Given the description of an element on the screen output the (x, y) to click on. 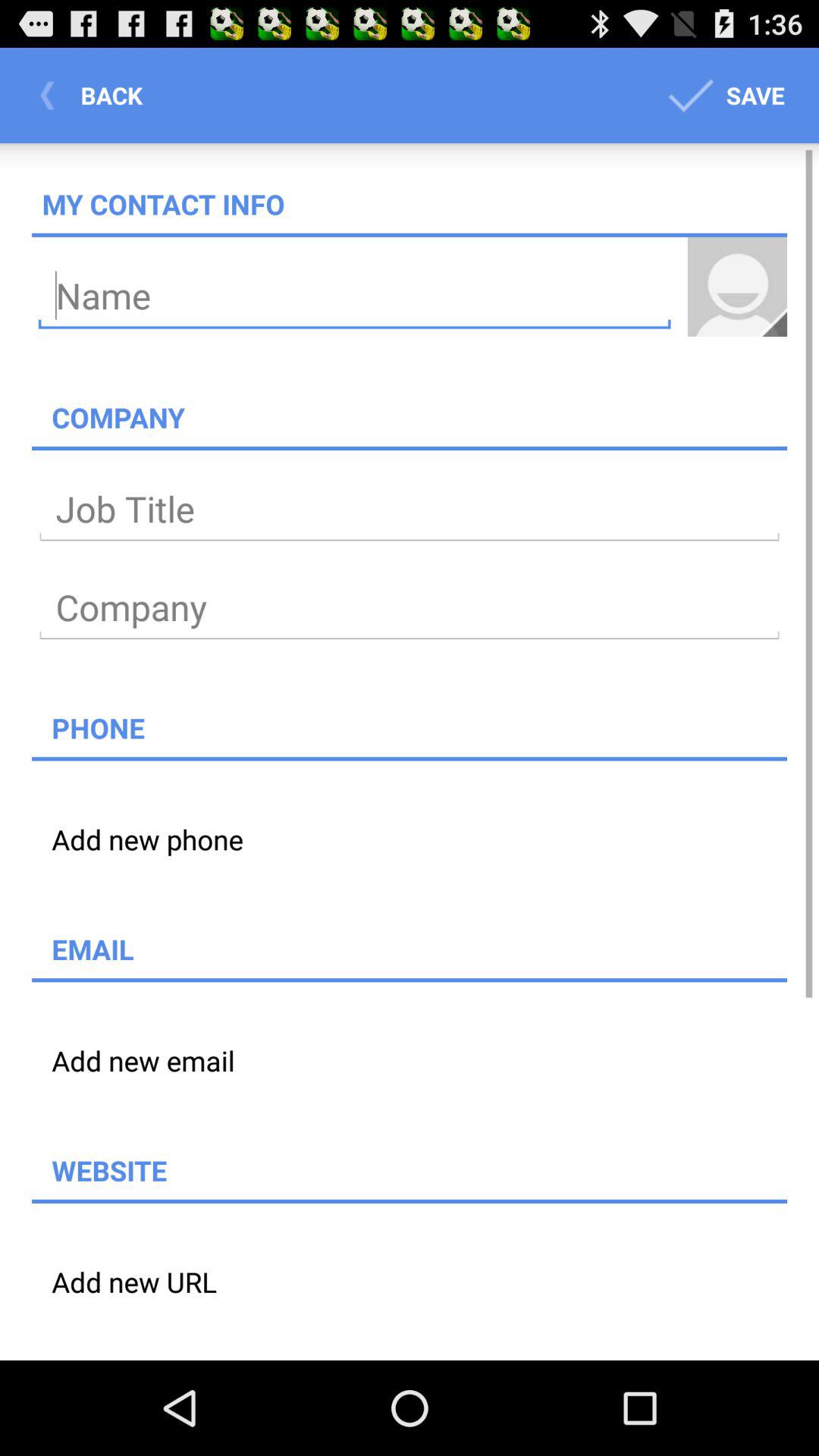
enter name (354, 296)
